Given the description of an element on the screen output the (x, y) to click on. 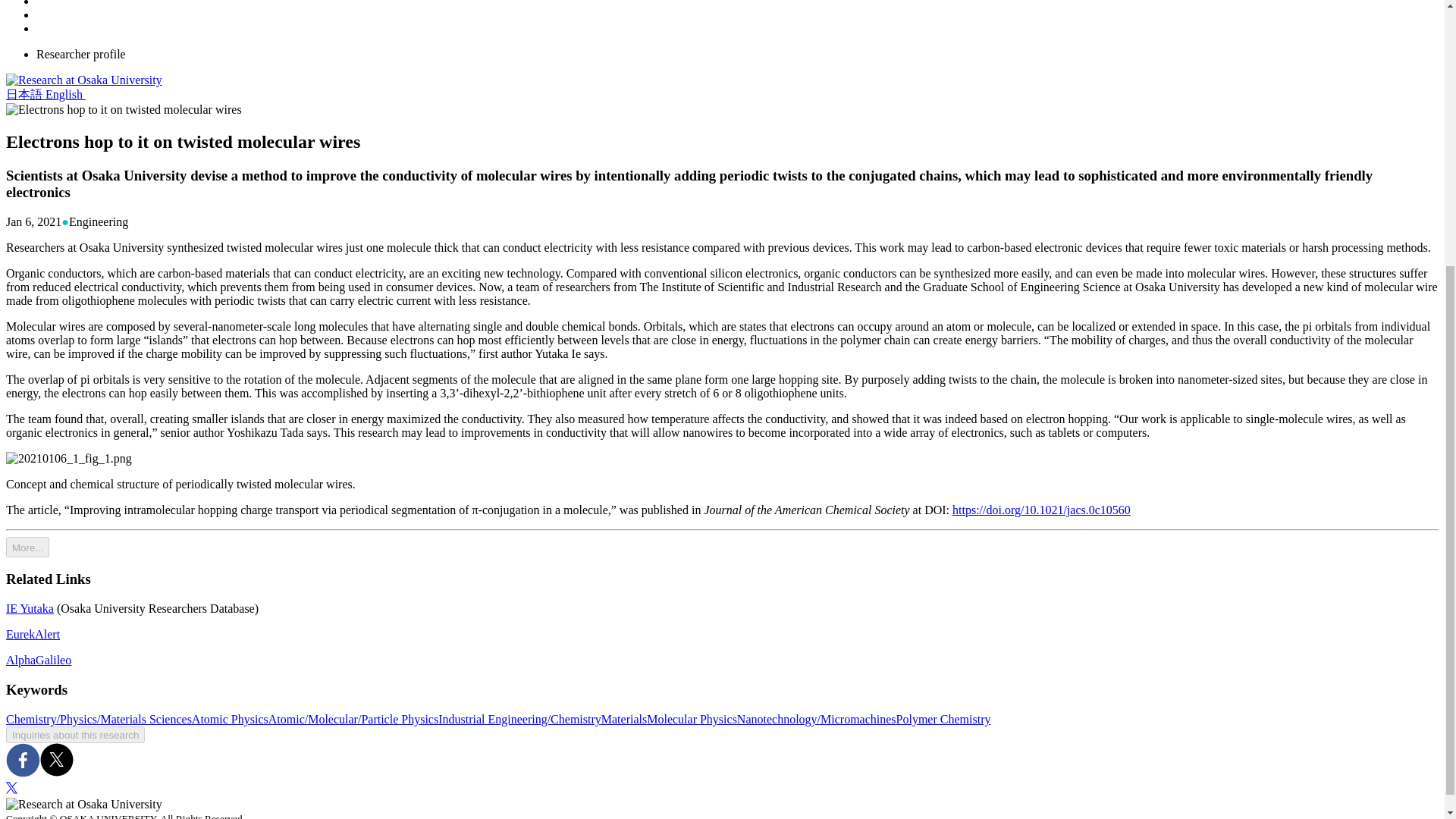
Inquiries about this research (74, 734)
Researcher profile (80, 53)
Materials (623, 718)
EurekAlert (32, 634)
Polymer Chemistry (943, 718)
More... (27, 547)
IE Yutaka (29, 608)
AlphaGalileo (38, 659)
Inquiries about this research (74, 734)
English  (65, 93)
